Given the description of an element on the screen output the (x, y) to click on. 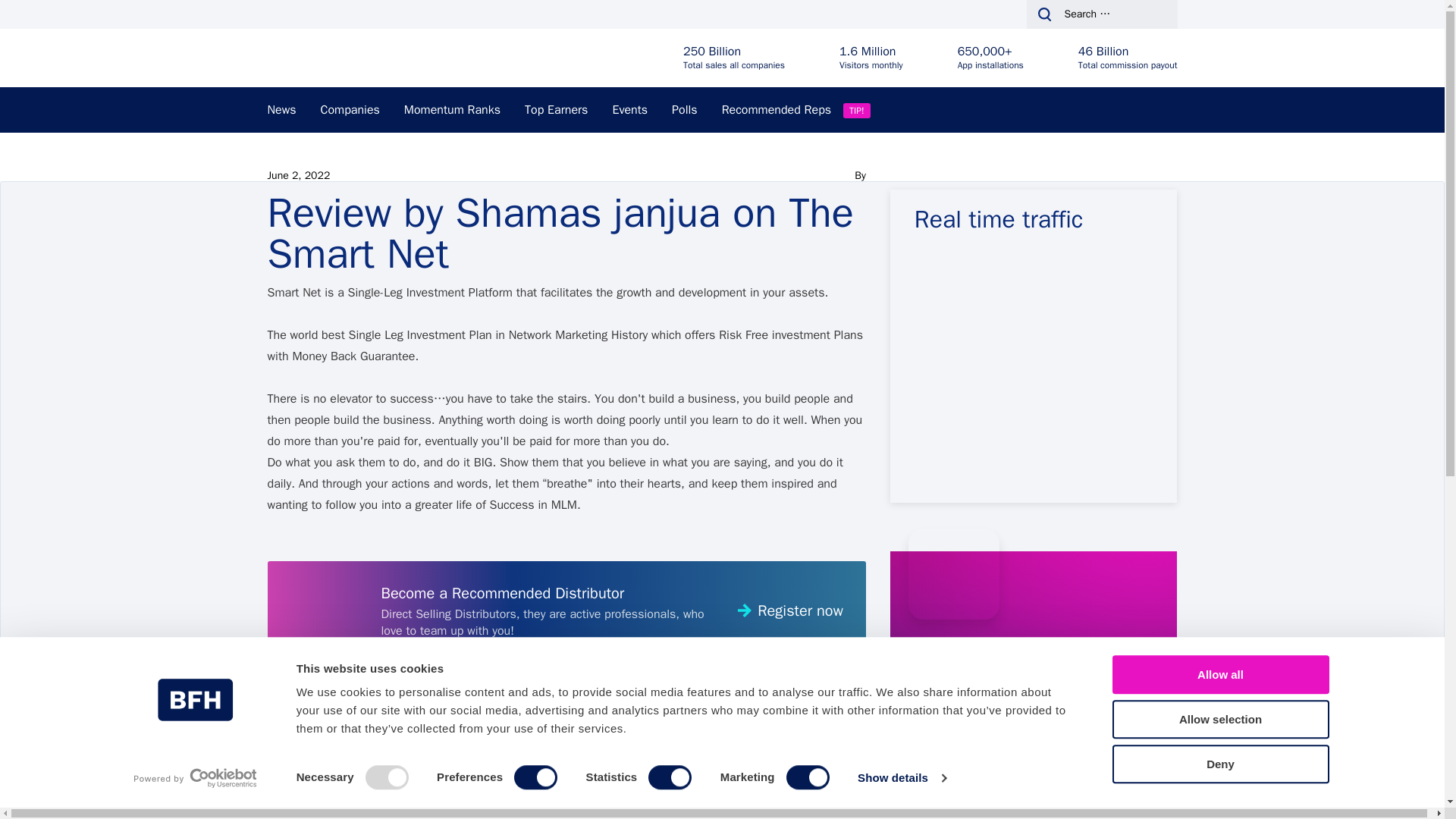
Show details (900, 777)
